Given the description of an element on the screen output the (x, y) to click on. 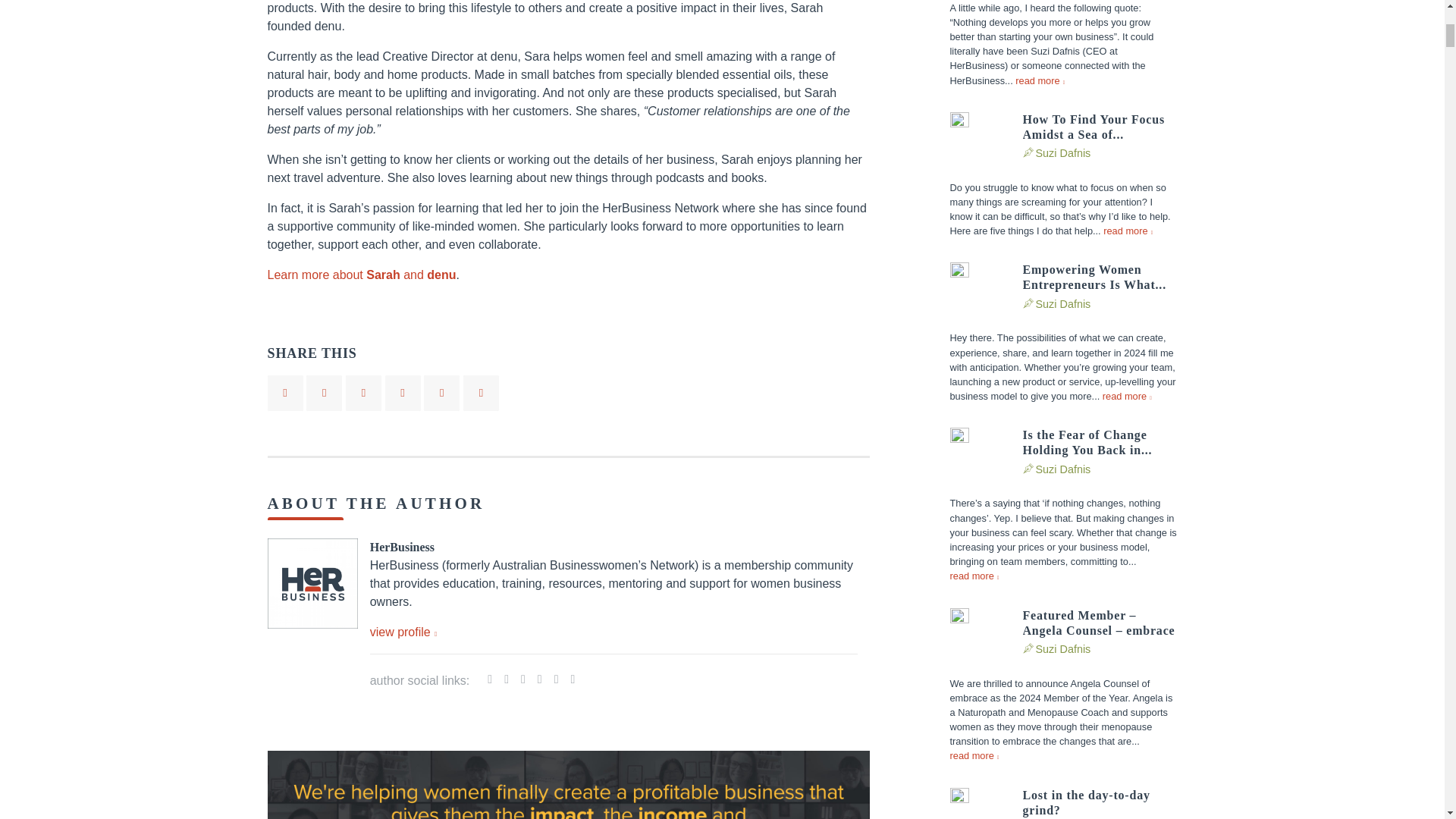
view profile (403, 632)
How To Find Your Focus Amidst a Sea of... (1099, 127)
HerBusiness (401, 546)
HerBusiness (403, 632)
read more (1039, 80)
Suzi Dafnis (1062, 152)
Learn more about Sarah and denu (360, 274)
HerBusiness (401, 546)
Suzi Dafnis (1062, 648)
Suzi Dafnis (1062, 304)
